Given the description of an element on the screen output the (x, y) to click on. 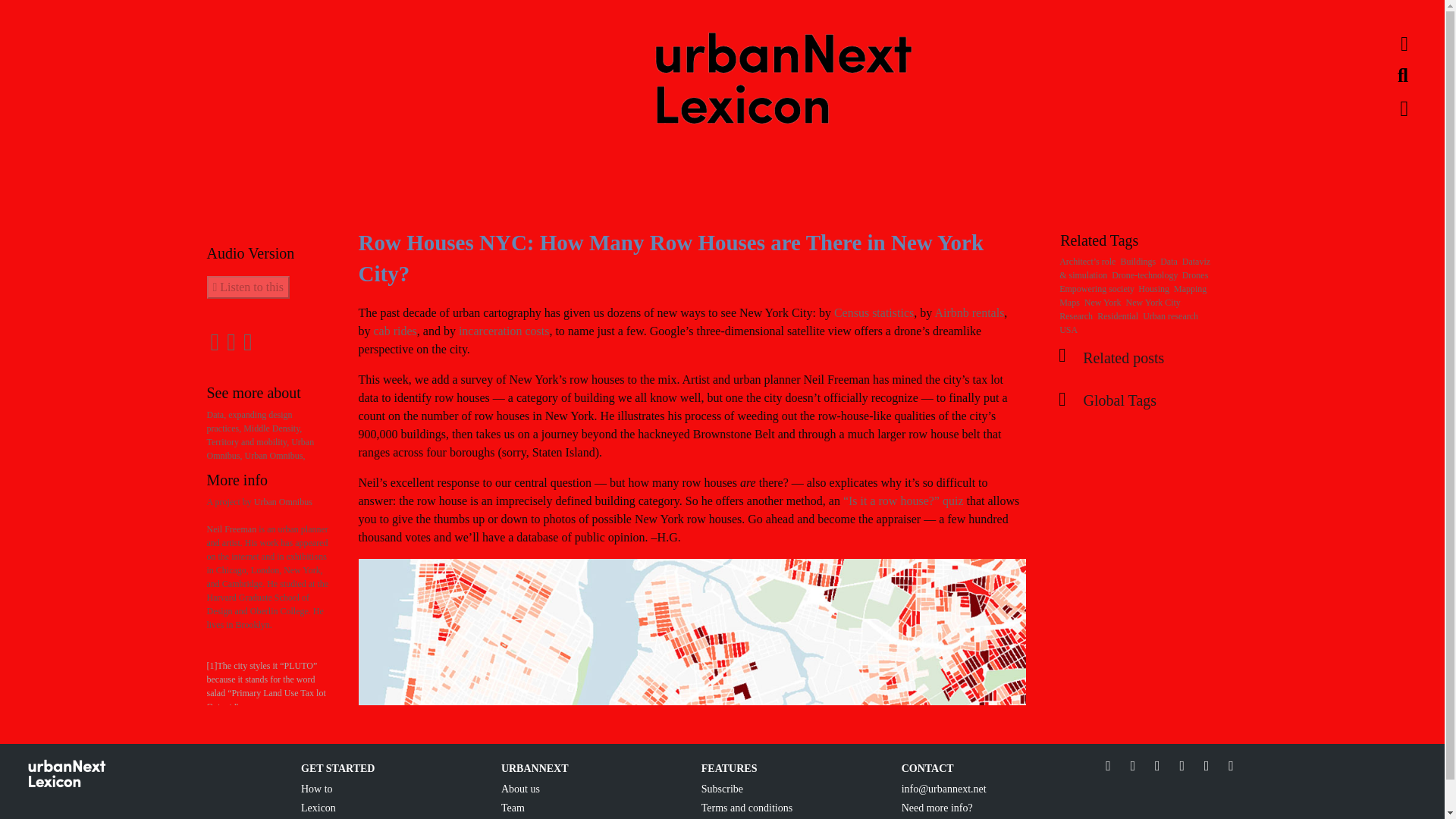
Middle Density (272, 428)
Urban Omnibus (274, 455)
Census statistics (874, 312)
Urban Omnibus (283, 501)
expanding design practices (249, 421)
Airbnb rentals (969, 312)
Territory and mobility (248, 441)
incarceration costs (504, 330)
Data (217, 414)
Neil Freeman (231, 529)
